Given the description of an element on the screen output the (x, y) to click on. 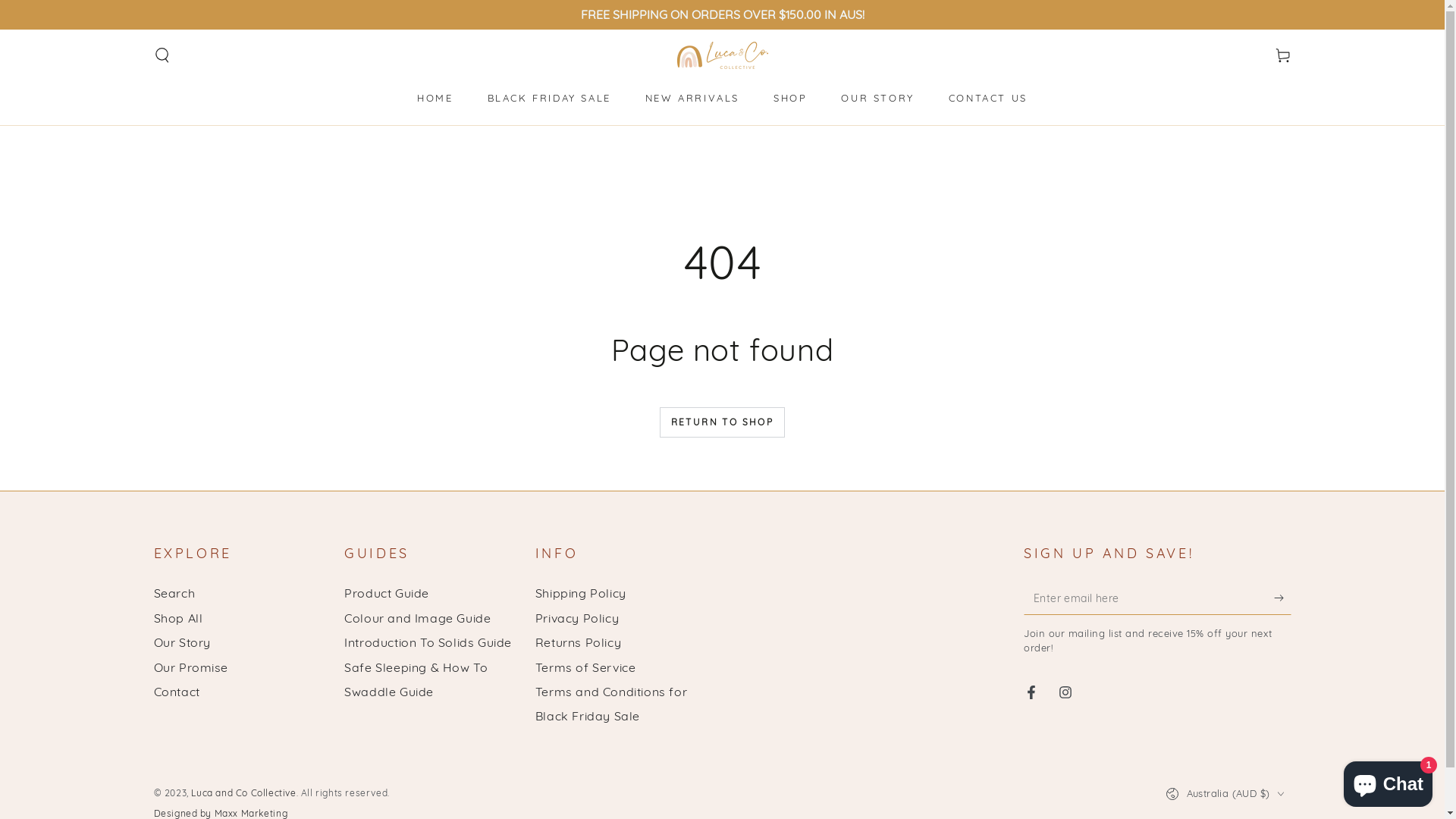
Our Promise Element type: text (190, 666)
Our Story Element type: text (181, 641)
Colour and Image Guide Element type: text (417, 617)
OUR STORY Element type: text (877, 98)
HOME Element type: text (434, 98)
Safe Sleeping & How To Swaddle Guide Element type: text (415, 679)
Shop All Element type: text (177, 617)
Terms and Conditions for Black Friday Sale Element type: text (611, 703)
CONTACT US Element type: text (987, 98)
NEW ARRIVALS Element type: text (691, 98)
Privacy Policy Element type: text (576, 617)
Product Guide Element type: text (386, 592)
Shipping Policy Element type: text (580, 592)
Australia (AUD $) Element type: text (1228, 793)
Shopify online store chat Element type: hover (1388, 780)
Instagram Element type: text (1065, 692)
Contact Element type: text (176, 691)
Luca and Co Collective Element type: text (243, 792)
Facebook Element type: text (1031, 692)
Introduction To Solids Guide Element type: text (427, 641)
BLACK FRIDAY SALE Element type: text (549, 98)
RETURN TO SHOP Element type: text (722, 422)
Search Element type: text (173, 592)
Returns Policy Element type: text (578, 641)
SHOP Element type: text (790, 98)
Terms of Service Element type: text (585, 666)
